Given the description of an element on the screen output the (x, y) to click on. 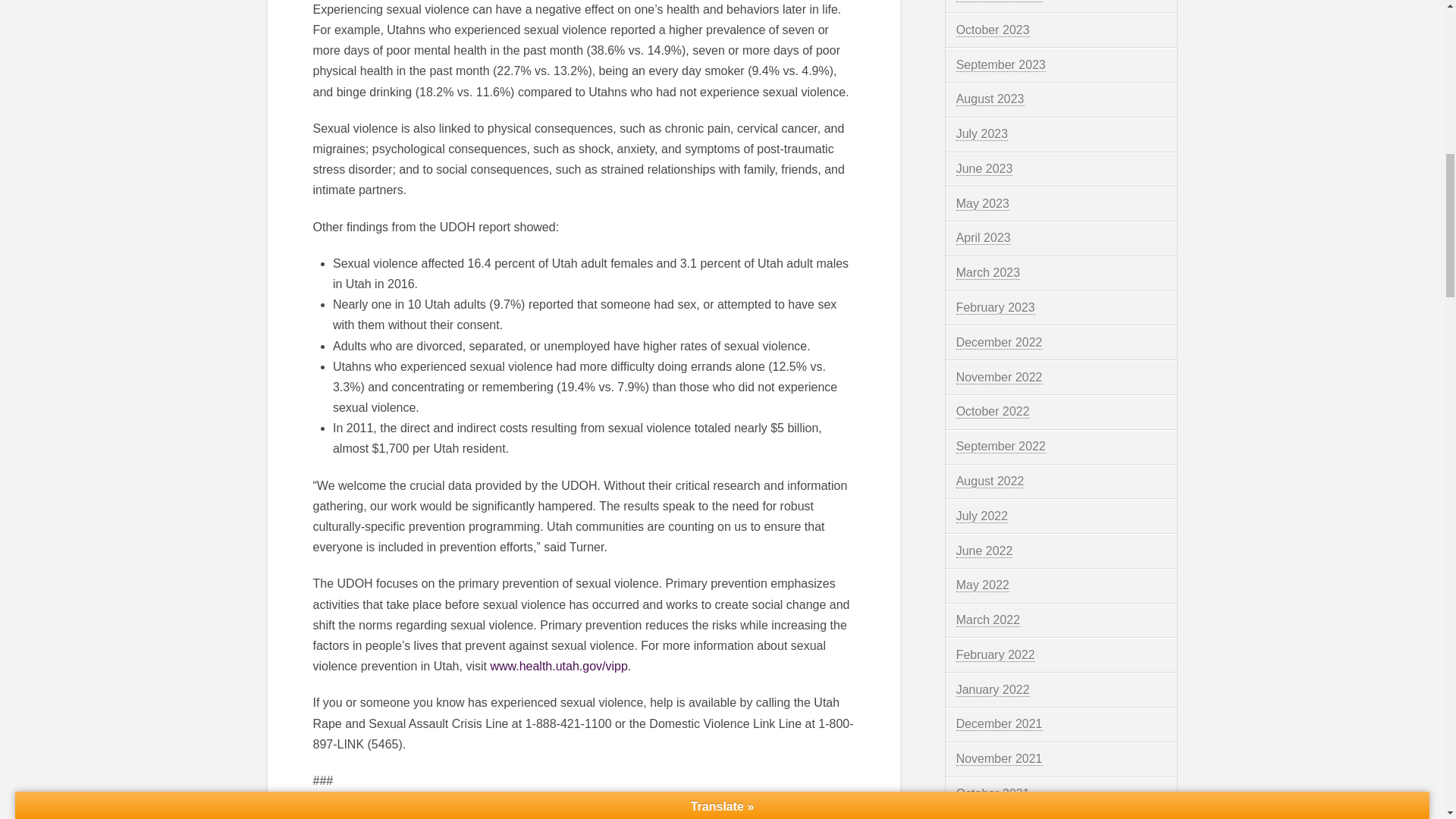
November 2021 (999, 758)
May 2023 (982, 203)
November 2023 (999, 1)
October 2023 (992, 29)
March 2023 (988, 273)
June 2023 (984, 169)
September 2022 (1000, 446)
March 2022 (988, 620)
August 2022 (990, 481)
April 2023 (983, 237)
